Given the description of an element on the screen output the (x, y) to click on. 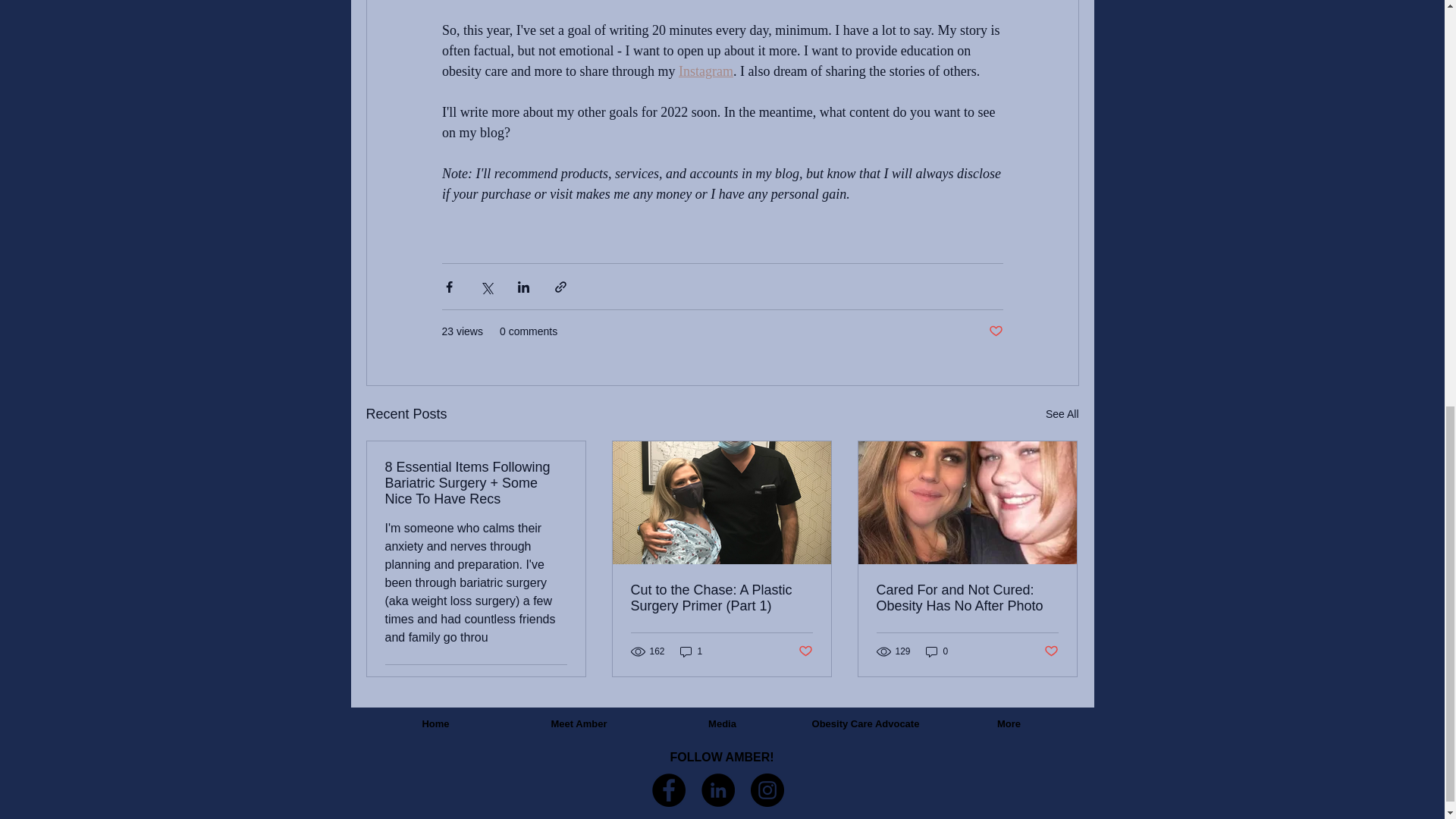
Post not marked as liked (1050, 650)
Meet Amber (578, 724)
Instagram (705, 70)
1 (691, 651)
1 like. Post not marked as liked (555, 683)
Cared For and Not Cured: Obesity Has No After Photo (967, 598)
Obesity Care Advocate (865, 724)
Post not marked as liked (804, 650)
See All (1061, 414)
0 (937, 651)
Media (721, 724)
Post not marked as liked (995, 331)
Home (435, 724)
